Given the description of an element on the screen output the (x, y) to click on. 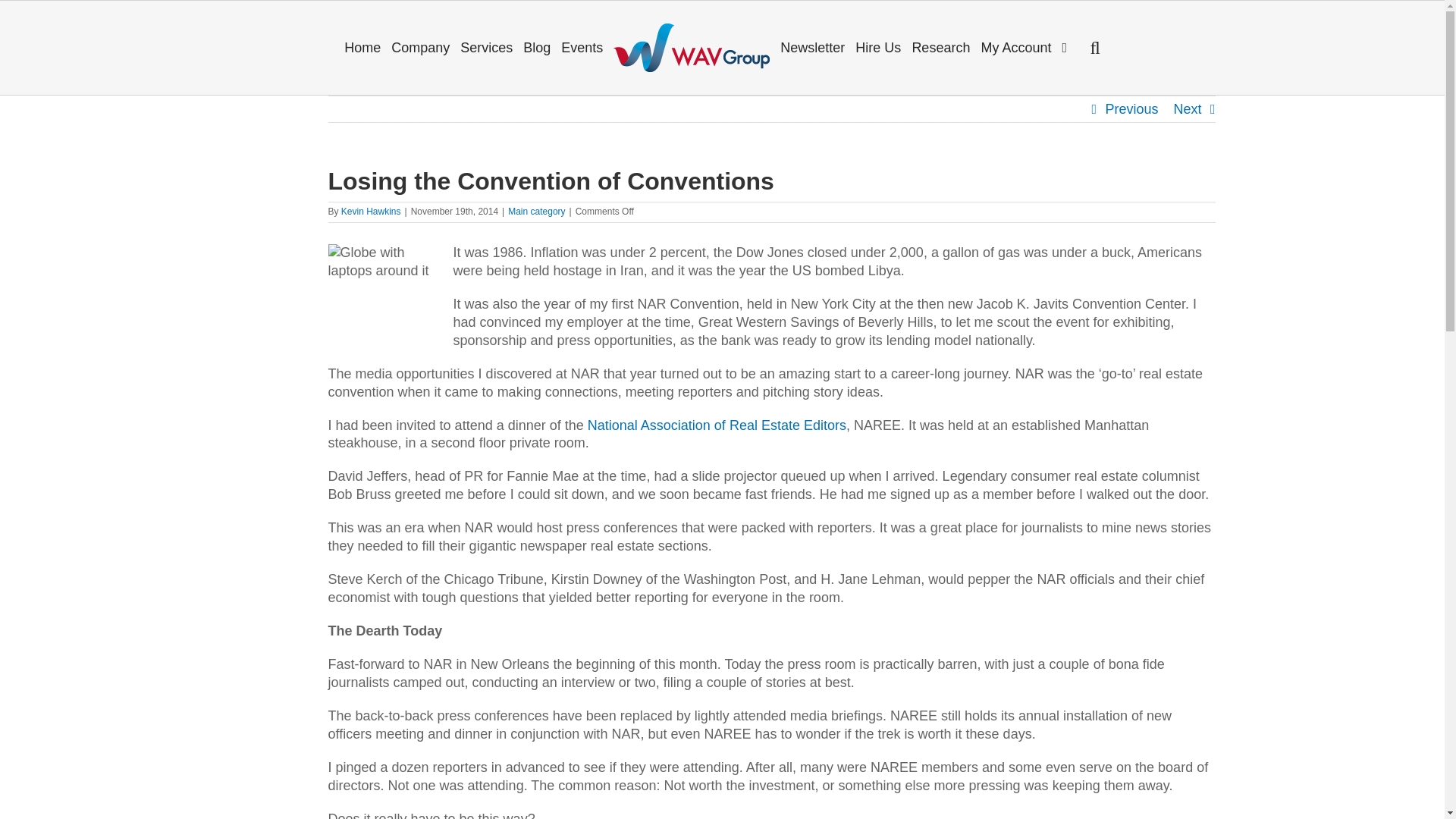
Log In (1069, 181)
Home (362, 47)
Events (582, 47)
My Account (1016, 47)
Hire Us (877, 47)
Posts by Kevin Hawkins (370, 211)
Newsletter (812, 47)
Research (940, 47)
Services (486, 47)
Company (419, 47)
